Given the description of an element on the screen output the (x, y) to click on. 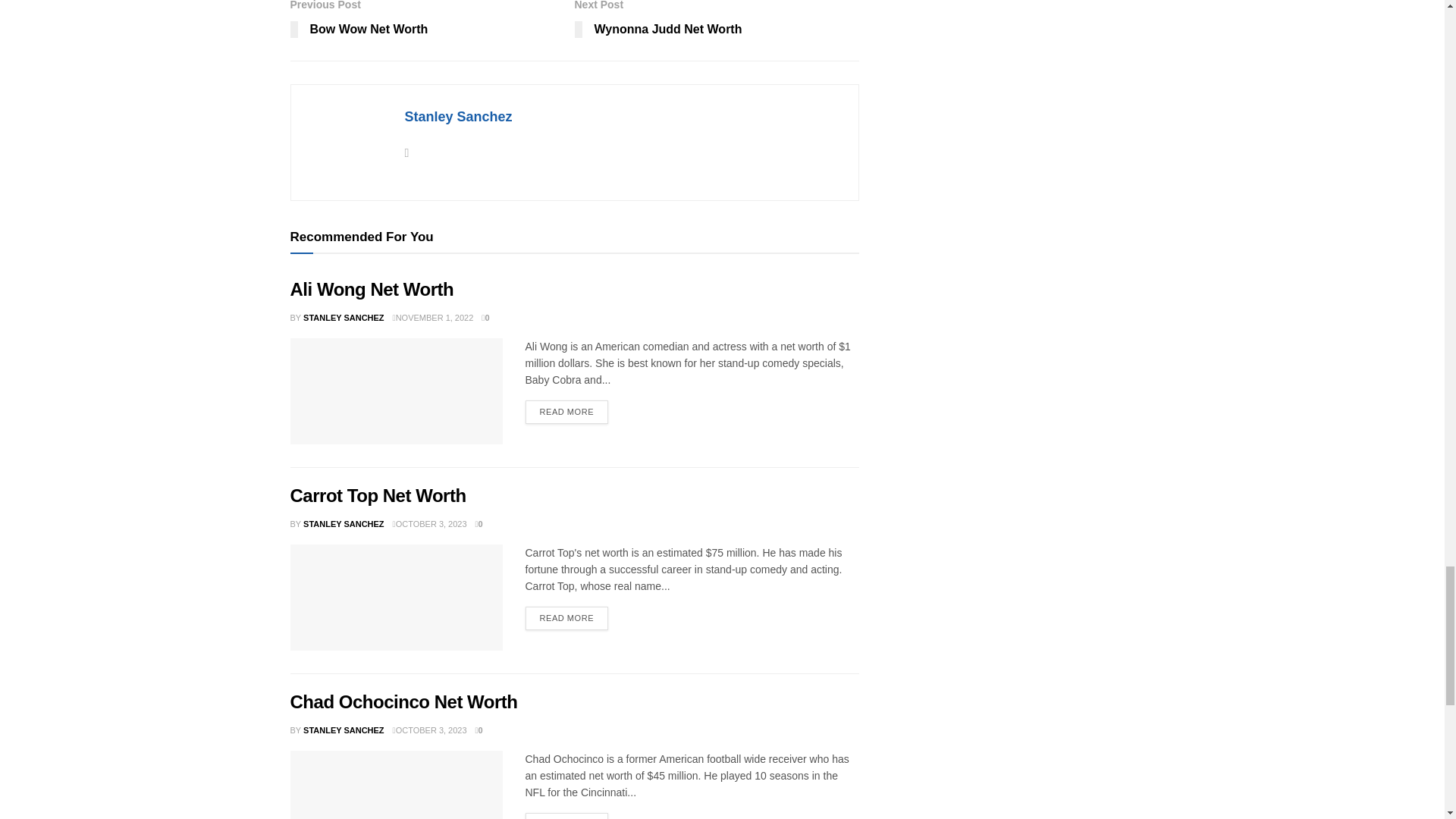
Carrot Top Net Worth (395, 597)
Ali Wong Net Worth (395, 391)
Chad Ochocinco Net Worth (395, 785)
